Given the description of an element on the screen output the (x, y) to click on. 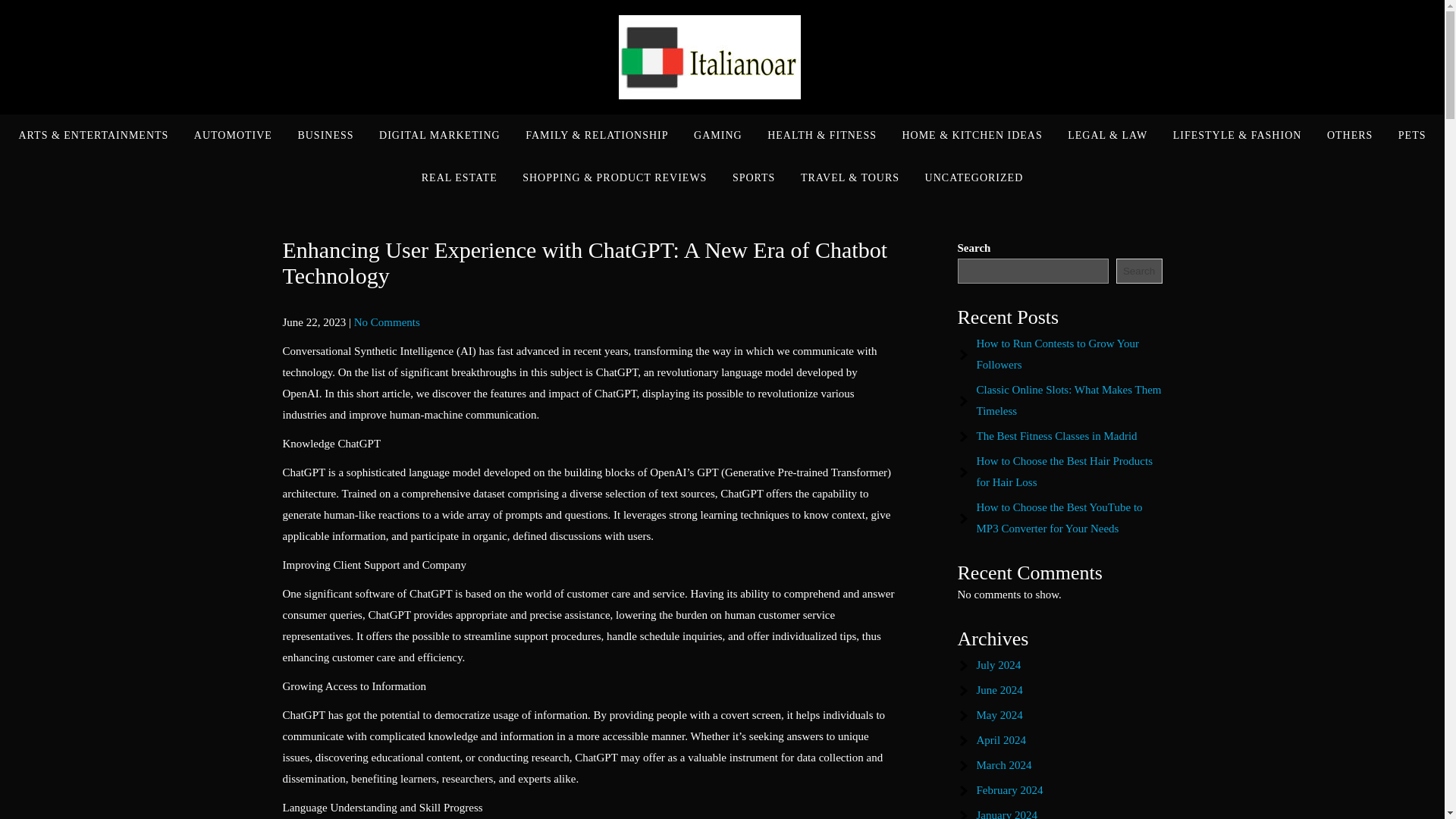
GAMING (718, 135)
BUSINESS (325, 135)
June 2024 (999, 689)
SPORTS (753, 178)
Classic Online Slots: What Makes Them Timeless (1068, 400)
February 2024 (1009, 789)
May 2024 (999, 715)
UNCATEGORIZED (974, 178)
April 2024 (1001, 739)
How to Choose the Best Hair Products for Hair Loss (1064, 471)
DIGITAL MARKETING (440, 135)
No Comments (386, 322)
PETS (1412, 135)
ITALIANOAR (938, 74)
AUTOMOTIVE (233, 135)
